Given the description of an element on the screen output the (x, y) to click on. 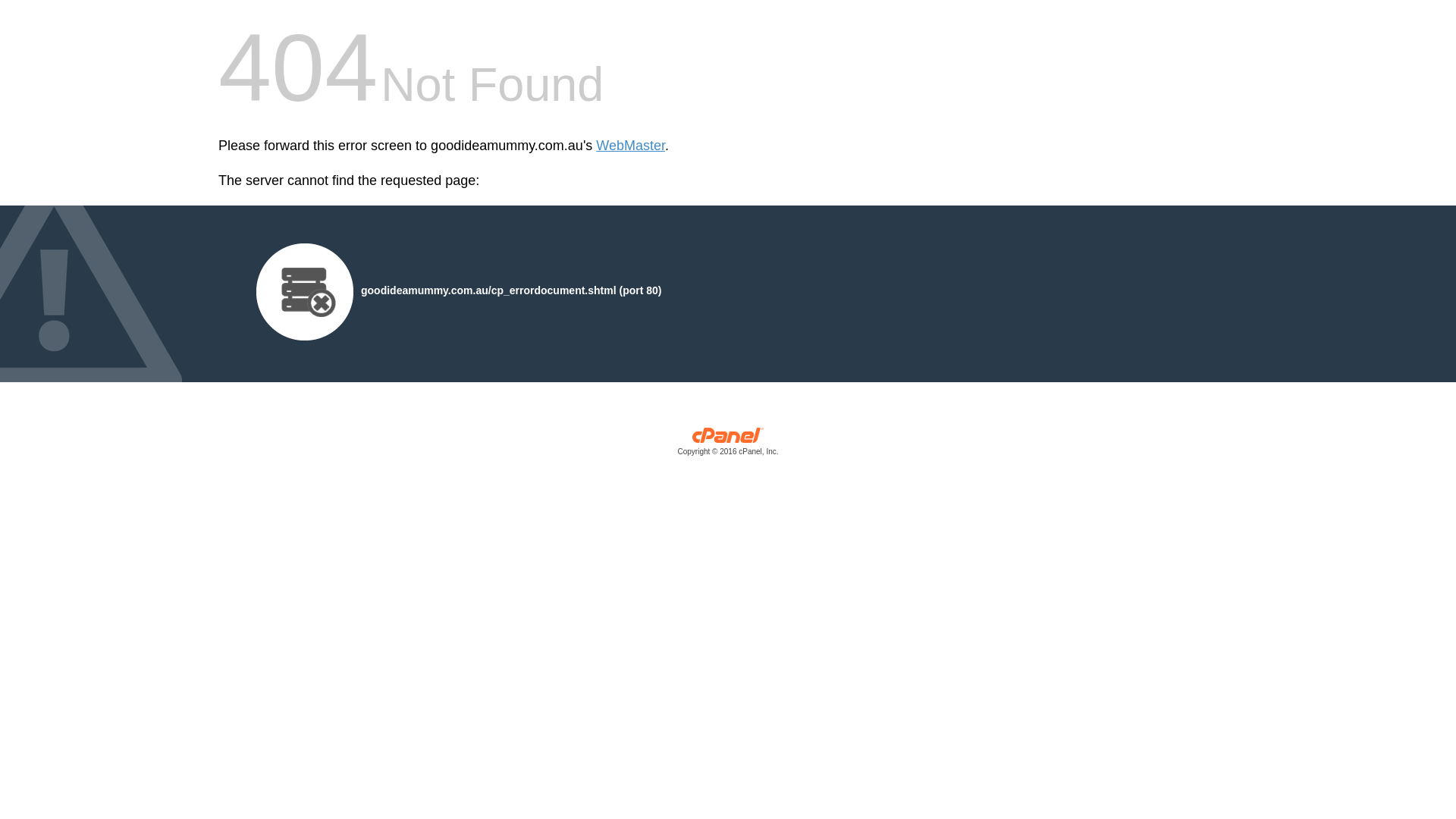
WebMaster Element type: text (630, 145)
